Given the description of an element on the screen output the (x, y) to click on. 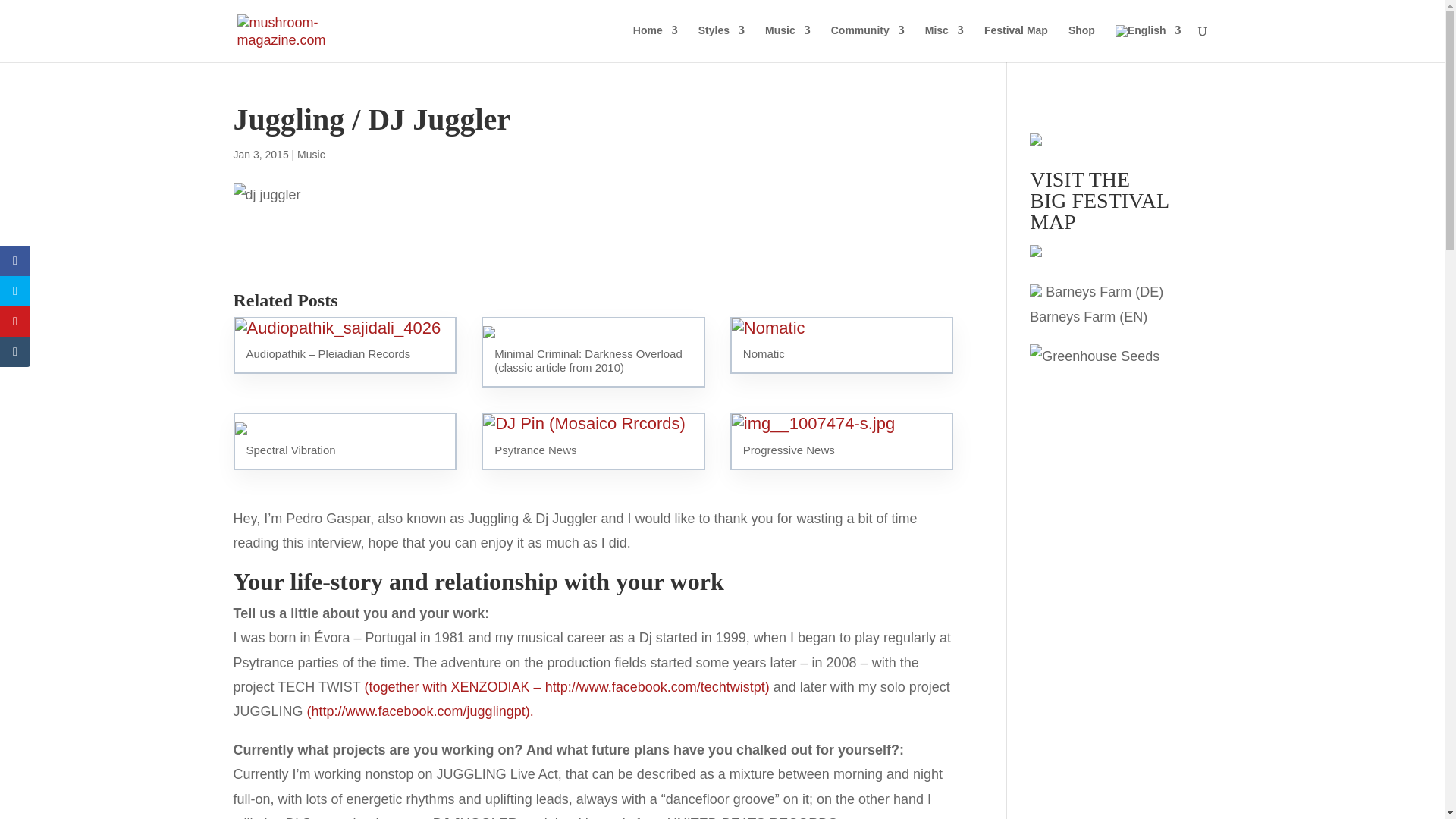
Home (655, 42)
Styles (721, 42)
Misc (943, 42)
Psytrance News (592, 440)
Spectral Vibration (344, 440)
Nomatic (841, 344)
Festival Map (1016, 42)
Music (787, 42)
Community (867, 42)
Music (310, 154)
